Given the description of an element on the screen output the (x, y) to click on. 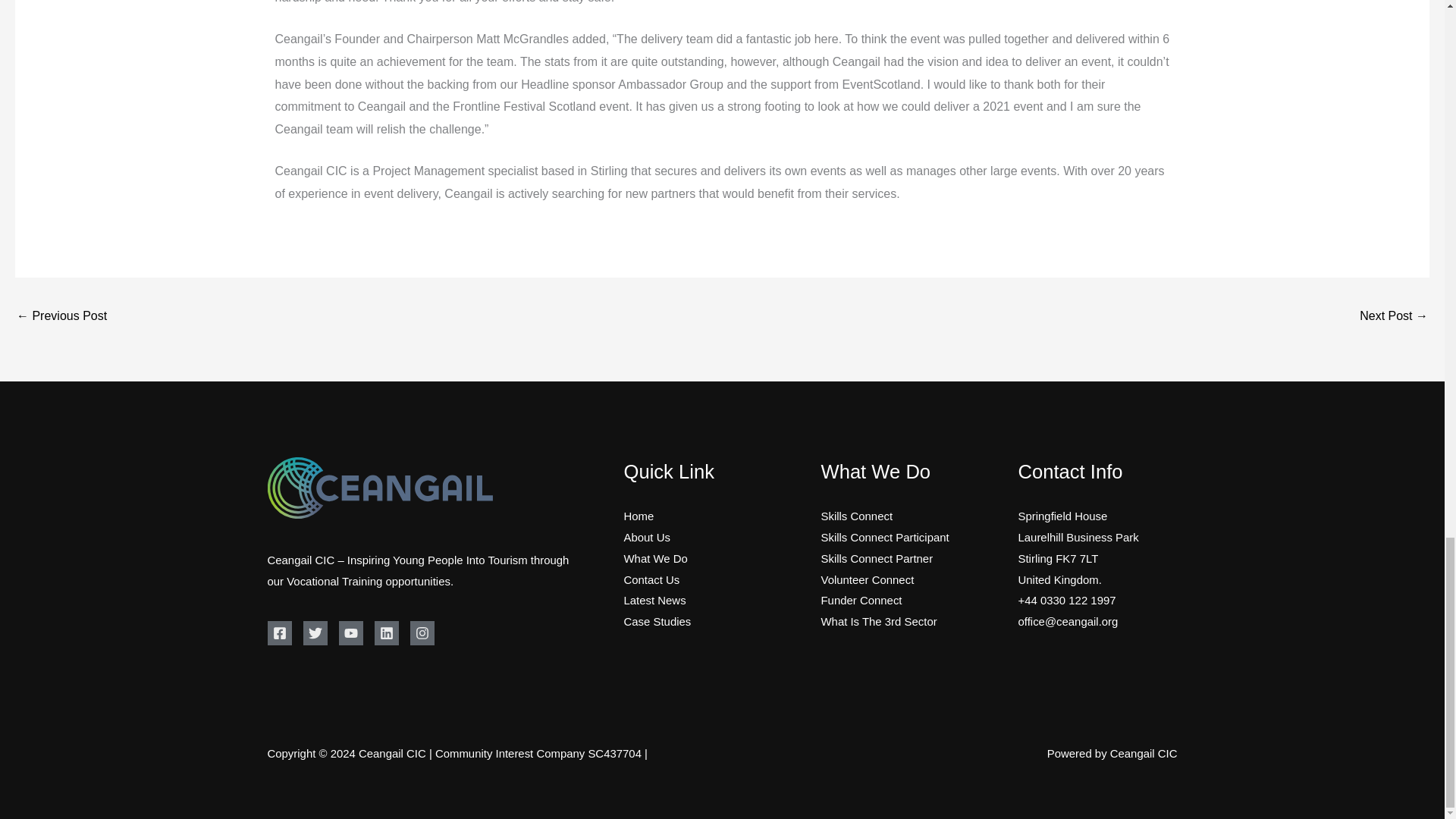
Ceangail is on the move (1393, 317)
